Given the description of an element on the screen output the (x, y) to click on. 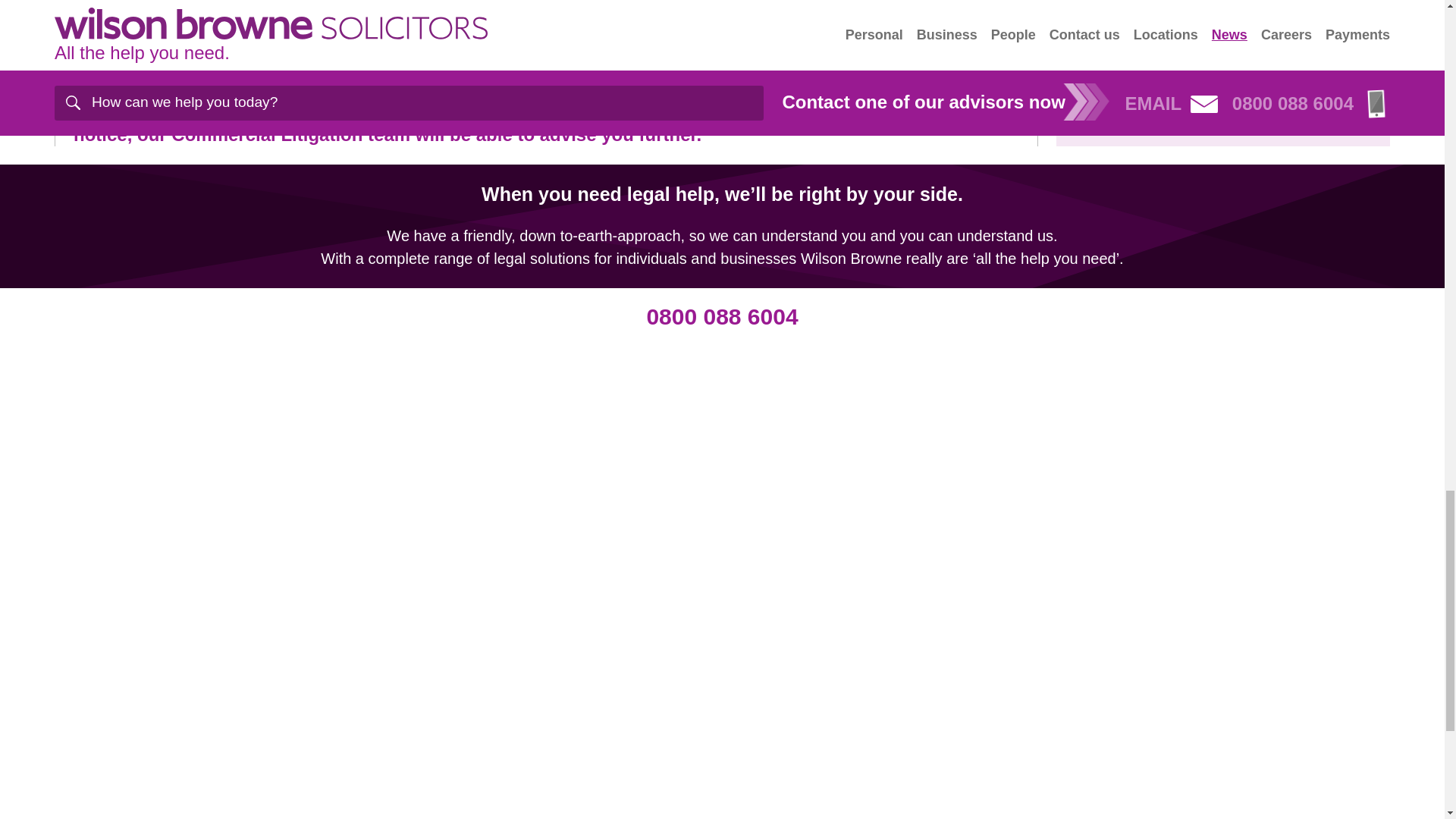
Commercial Litigation team (290, 134)
0800 088 6004 (721, 316)
